Given the description of an element on the screen output the (x, y) to click on. 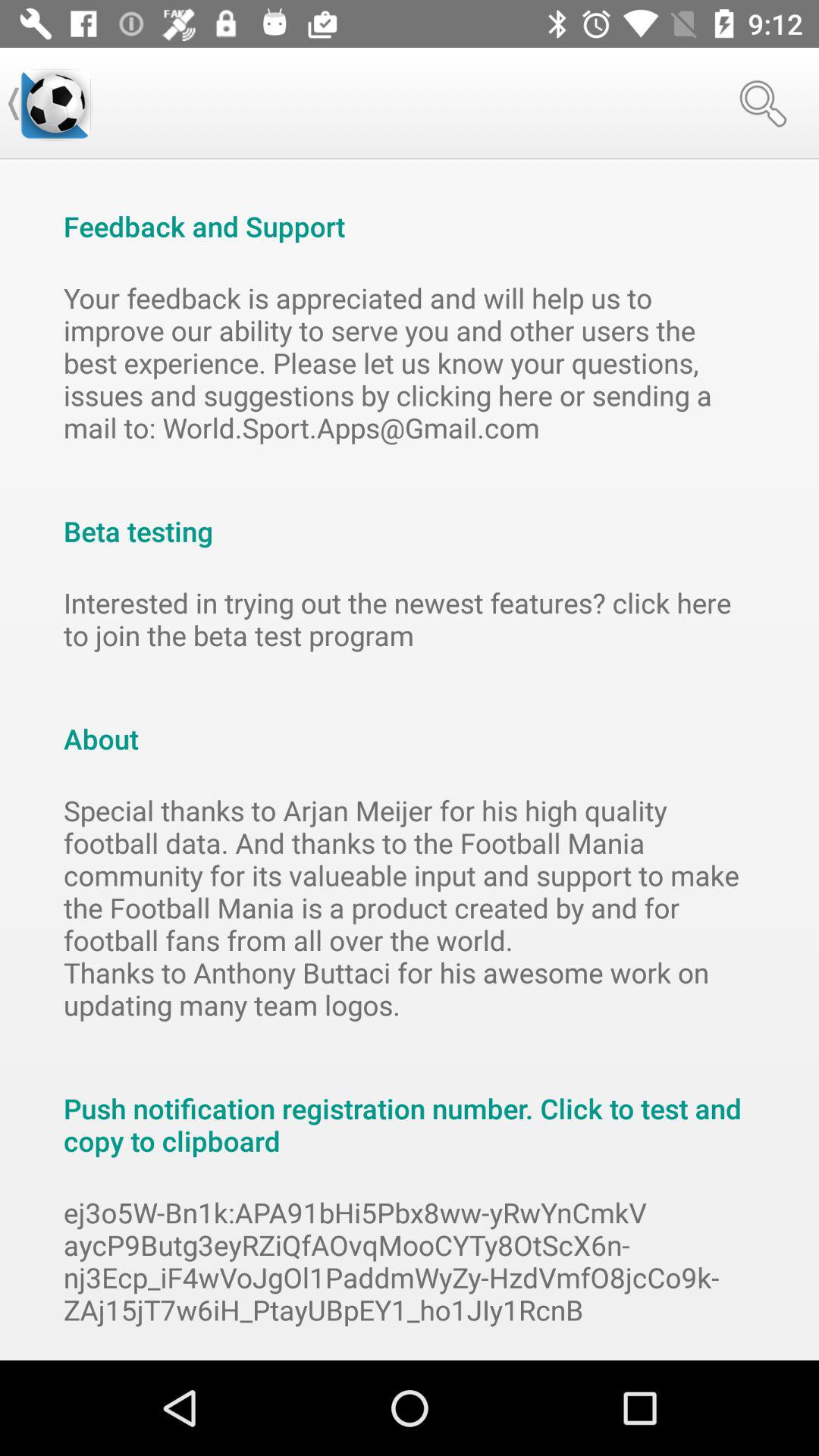
open the about item (409, 722)
